Given the description of an element on the screen output the (x, y) to click on. 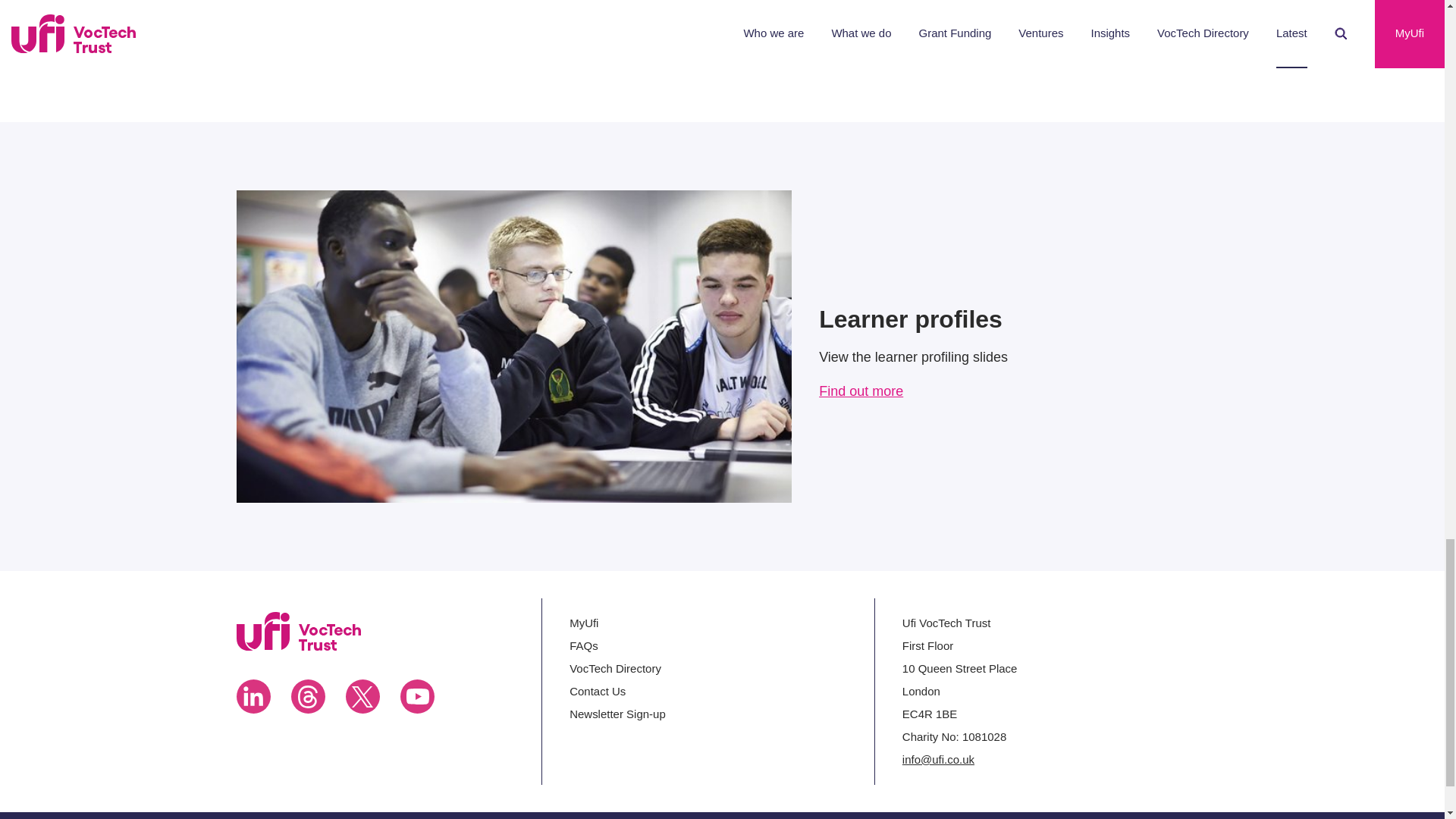
Contact Us (597, 690)
MyUfi (583, 622)
FAQs (582, 645)
VocTech Directory (615, 667)
Find out more (860, 391)
Newsletter Sign-up (617, 713)
